Given the description of an element on the screen output the (x, y) to click on. 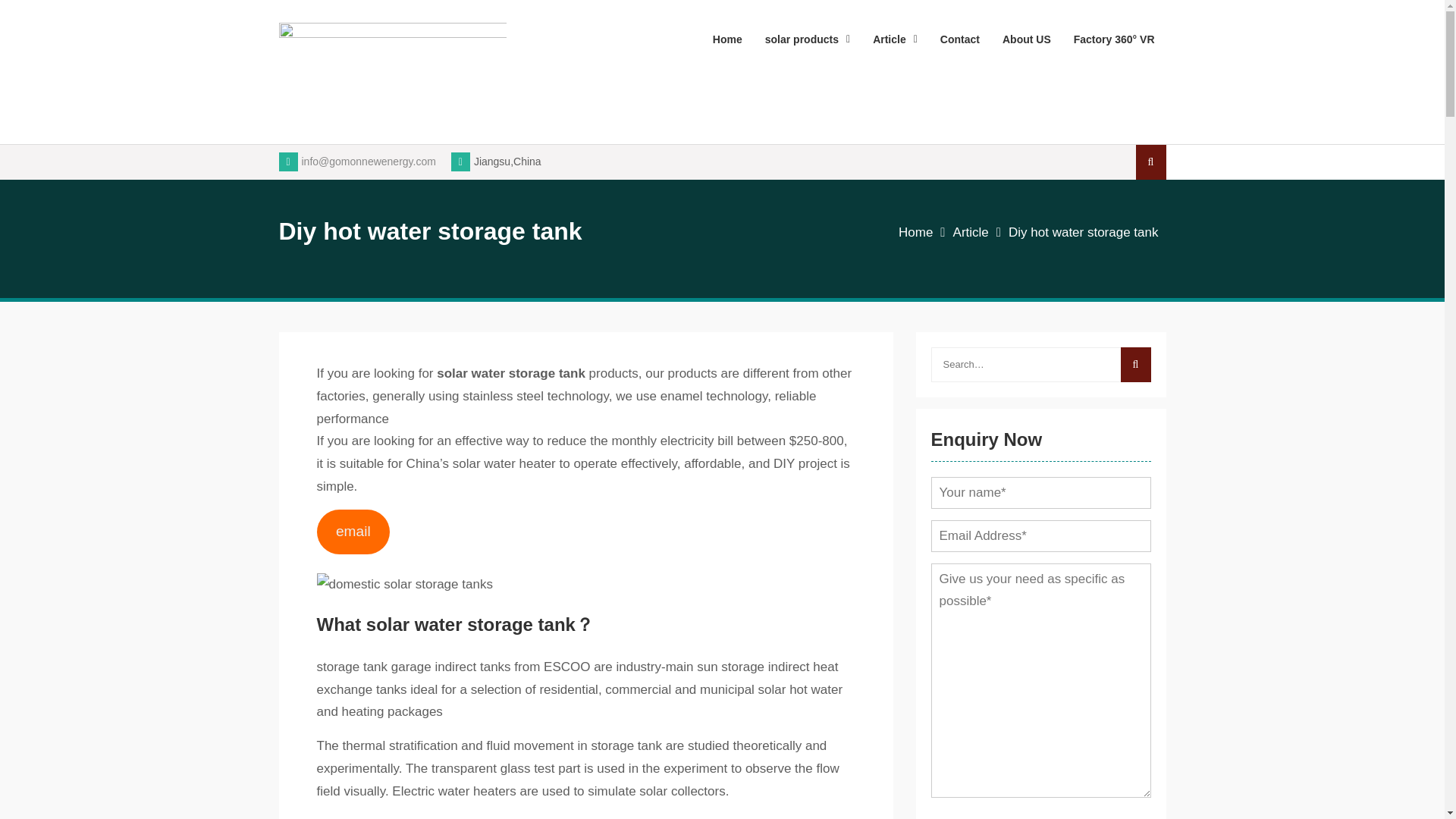
solar products (807, 39)
Search for: (1041, 364)
